Given the description of an element on the screen output the (x, y) to click on. 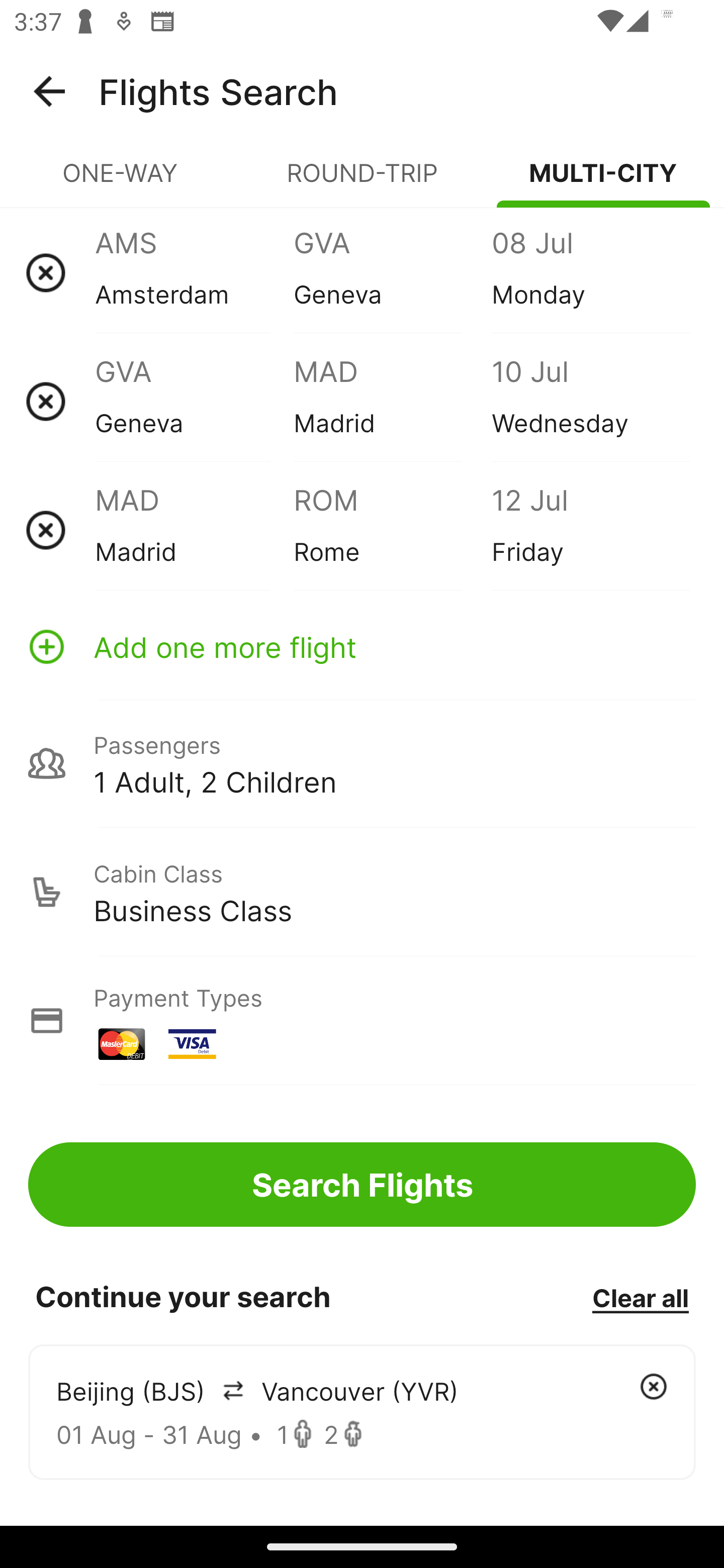
ONE-WAY (120, 180)
ROUND-TRIP (361, 180)
MULTI-CITY (603, 180)
AMS Amsterdam (193, 272)
GVA Geneva (392, 272)
08 Jul Monday (590, 272)
GVA Geneva (193, 401)
MAD Madrid (392, 401)
10 Jul Wednesday (590, 401)
MAD Madrid (193, 529)
ROM Rome (392, 529)
12 Jul Friday (590, 529)
Add one more flight (362, 646)
Passengers 1 Adult, 2 Children (362, 762)
Cabin Class Business Class (362, 891)
Payment Types (362, 1020)
Search Flights (361, 1184)
Clear all (640, 1297)
